Given the description of an element on the screen output the (x, y) to click on. 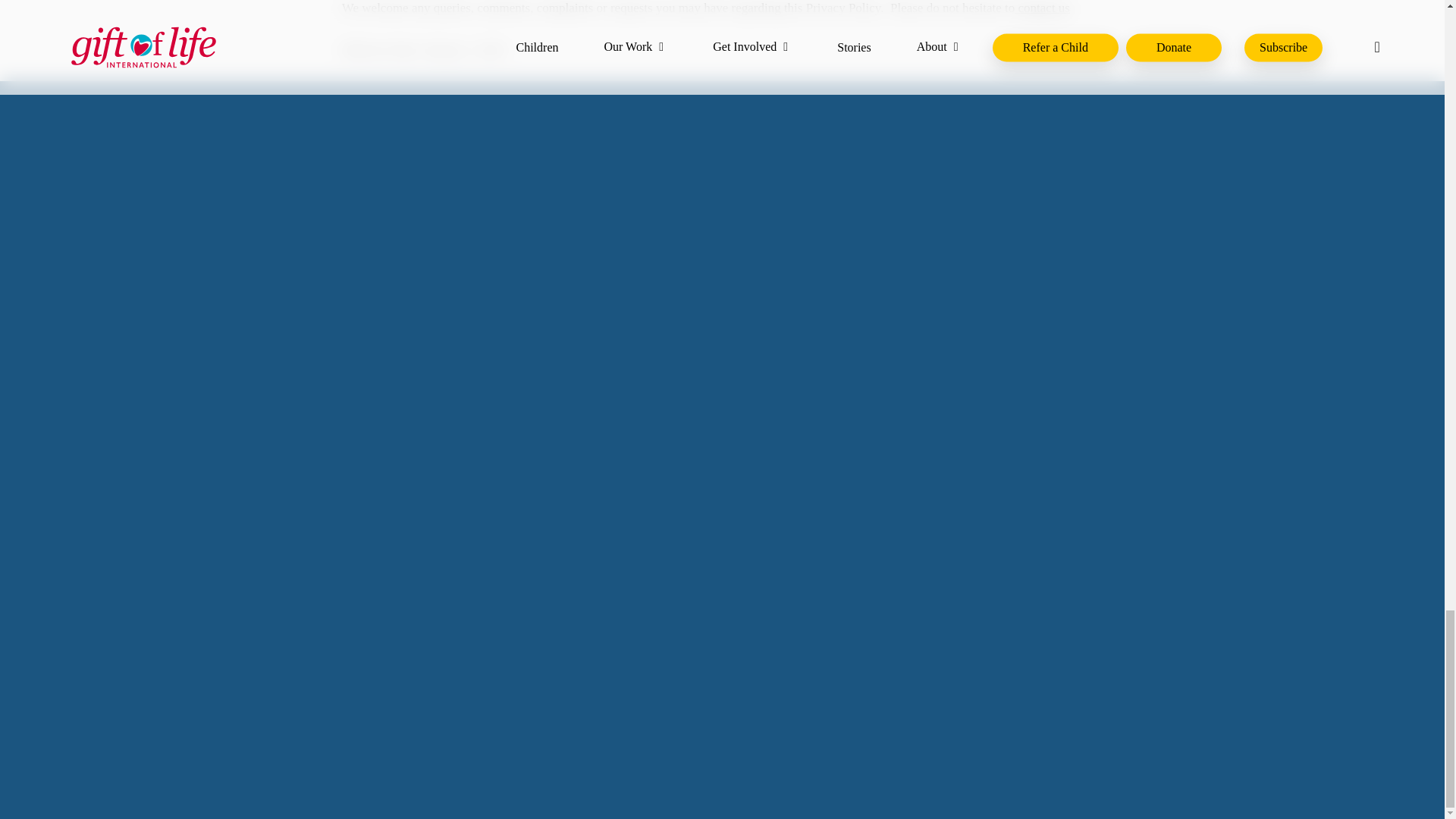
contact us (1042, 7)
